Given the description of an element on the screen output the (x, y) to click on. 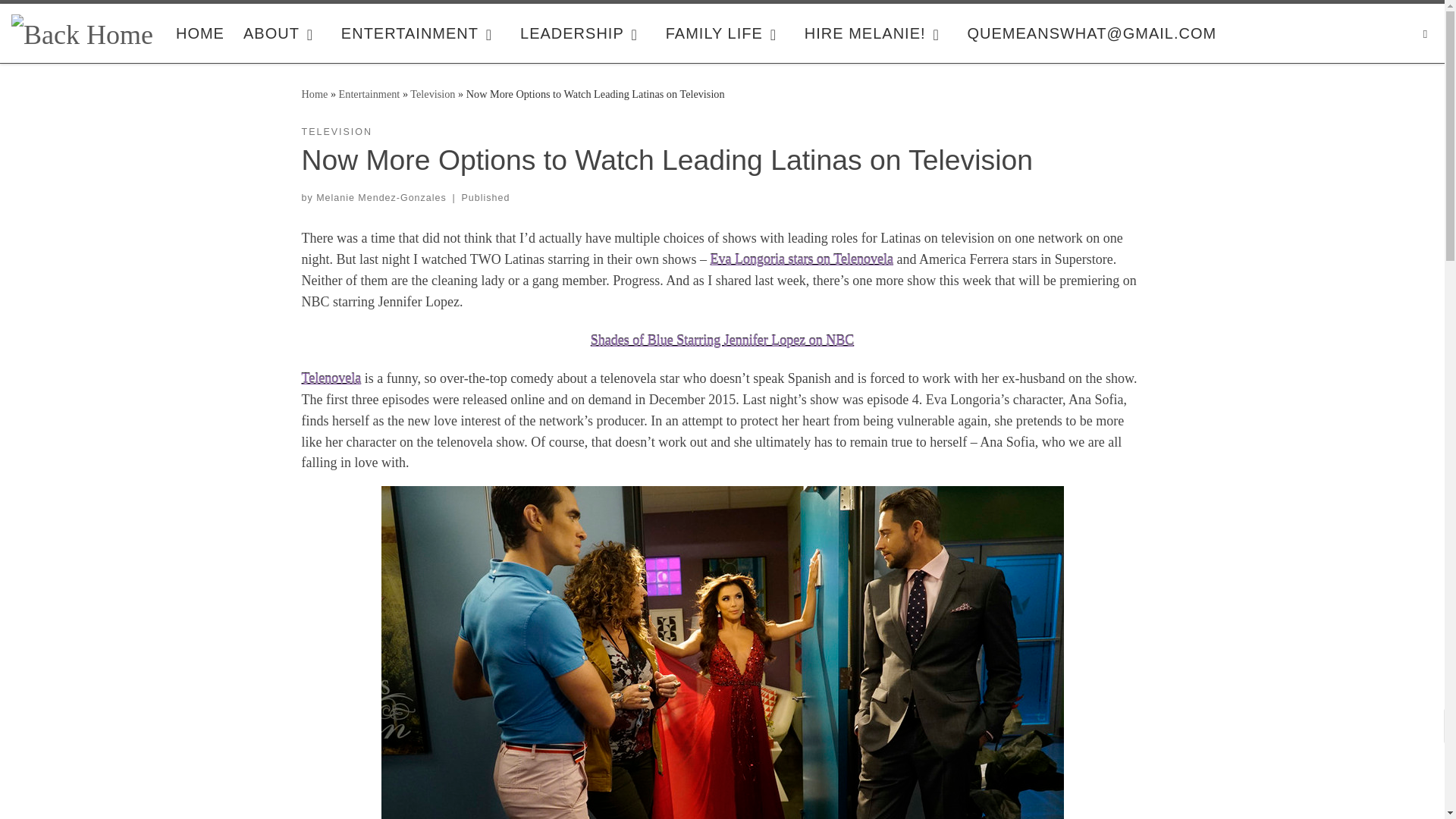
View all posts in Television (336, 132)
Explore and Celebrate the Mexican-American Culture (200, 33)
ENTERTAINMENT (421, 33)
Skip to content (57, 20)
FAMILY LIFE (725, 33)
ABOUT (282, 33)
HOME (200, 33)
LEADERSHIP (582, 33)
Entertainment (369, 93)
Television (432, 93)
